Given the description of an element on the screen output the (x, y) to click on. 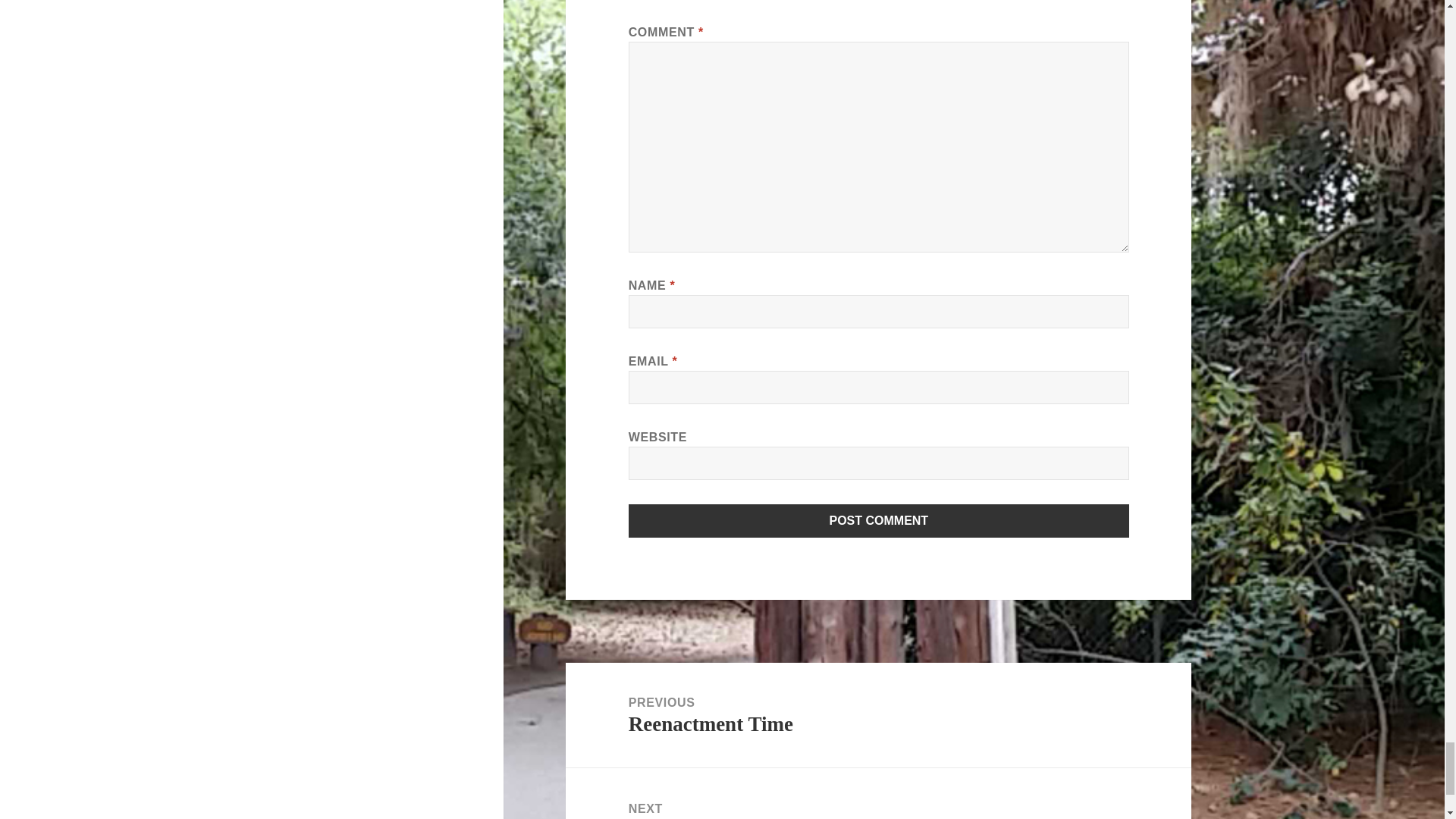
Post Comment (878, 520)
